Given the description of an element on the screen output the (x, y) to click on. 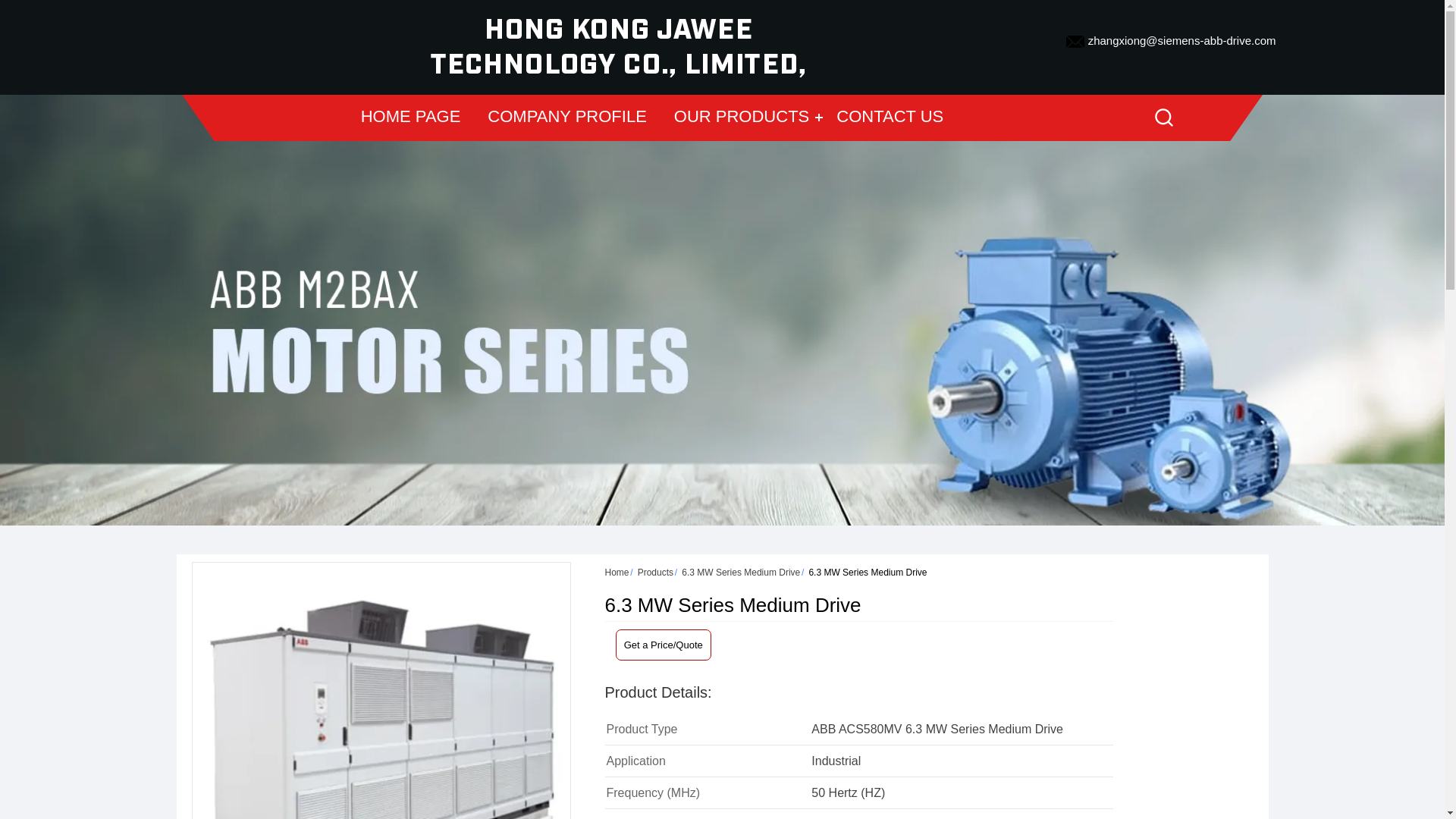
OUR PRODUCTS (741, 116)
Hong Kong Jawee Technology Co., Limited (617, 47)
HOME PAGE (410, 116)
COMPANY PROFILE (566, 116)
